Given the description of an element on the screen output the (x, y) to click on. 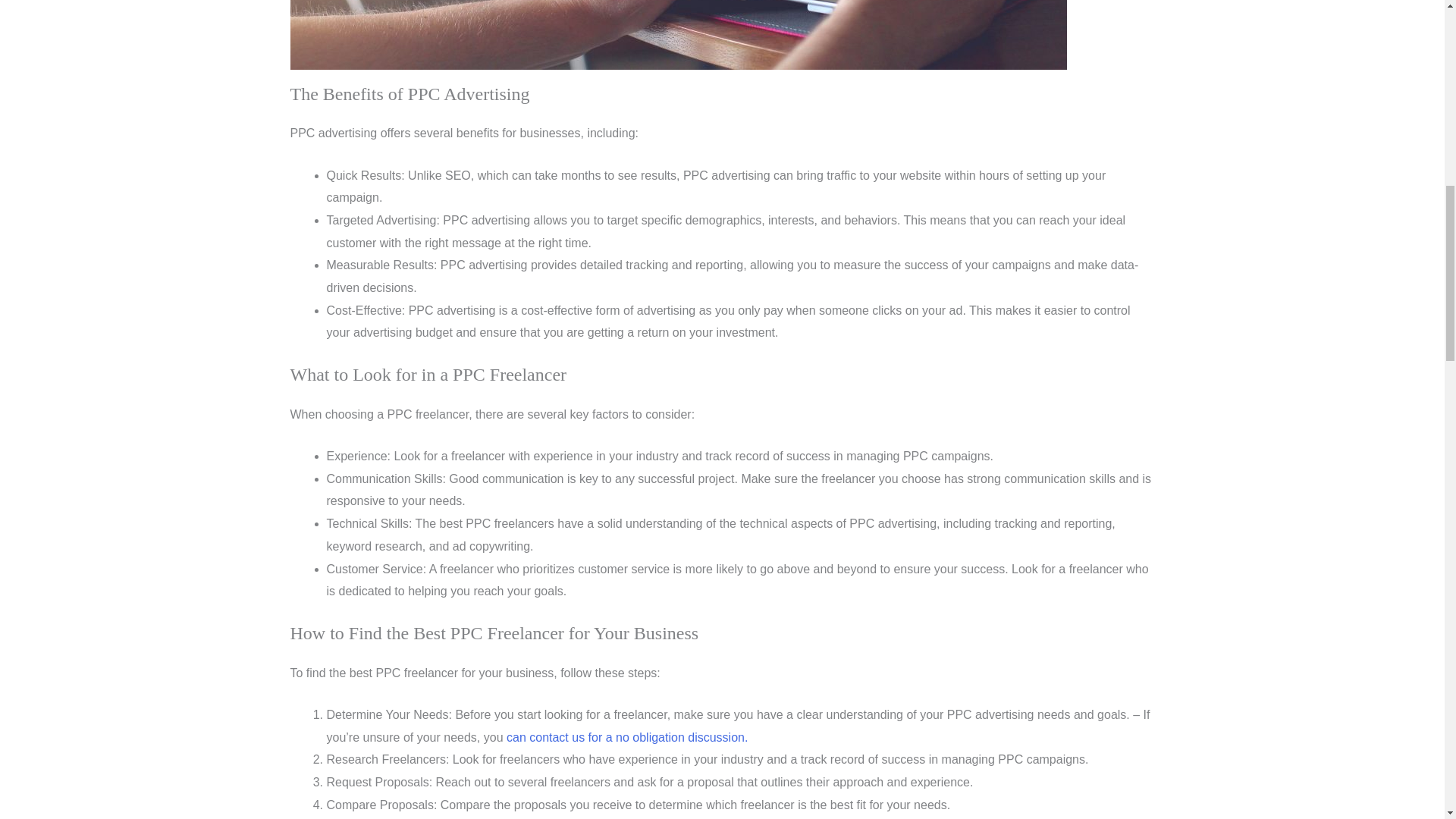
can contact us for a no obligation discussion. (627, 737)
